Given the description of an element on the screen output the (x, y) to click on. 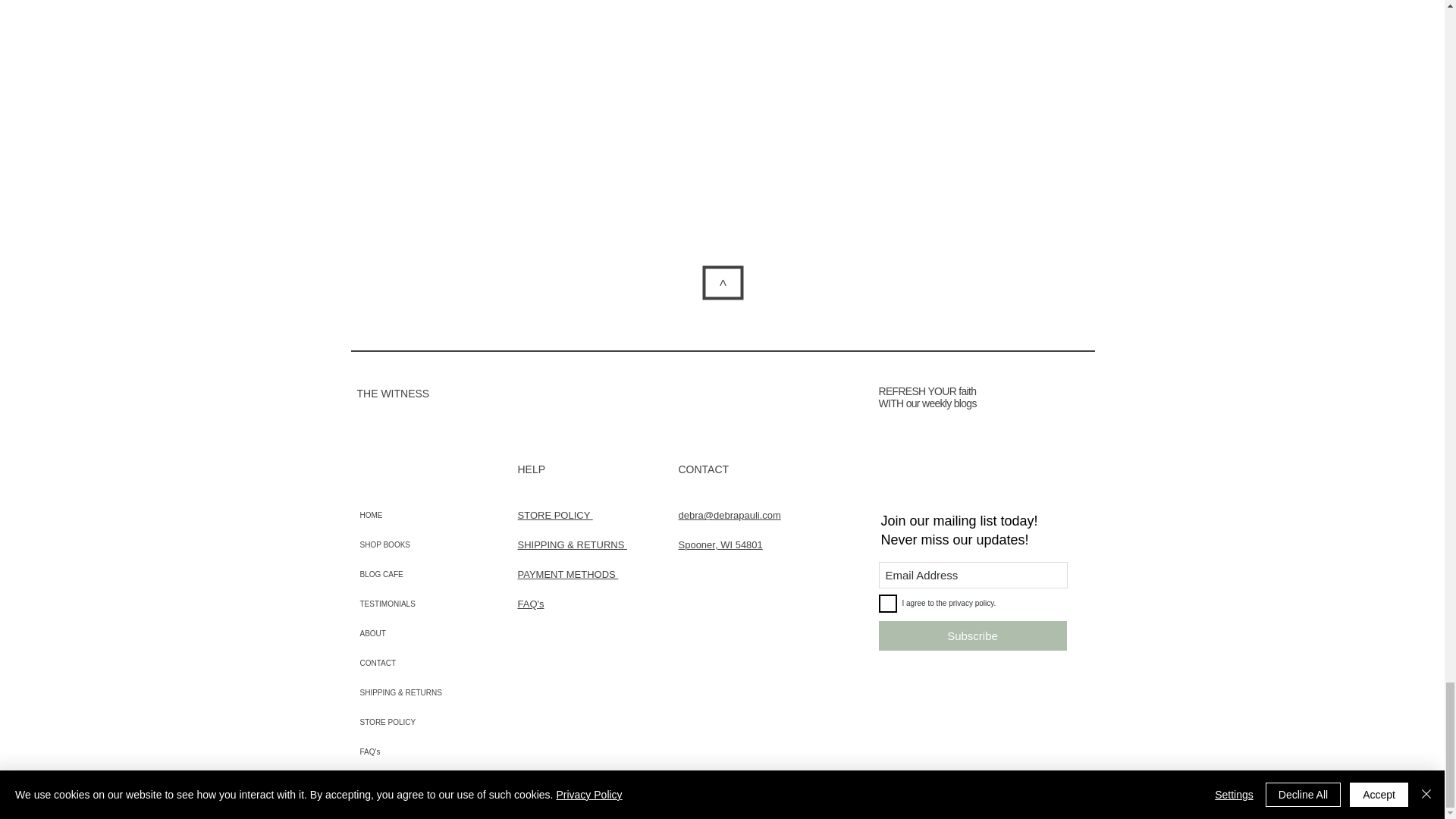
CONTACT (428, 663)
TESTIMONIALS (428, 603)
SHOP BOOKS (428, 544)
ABOUT (428, 633)
HOME (428, 514)
BLOG CAFE (428, 573)
